Given the description of an element on the screen output the (x, y) to click on. 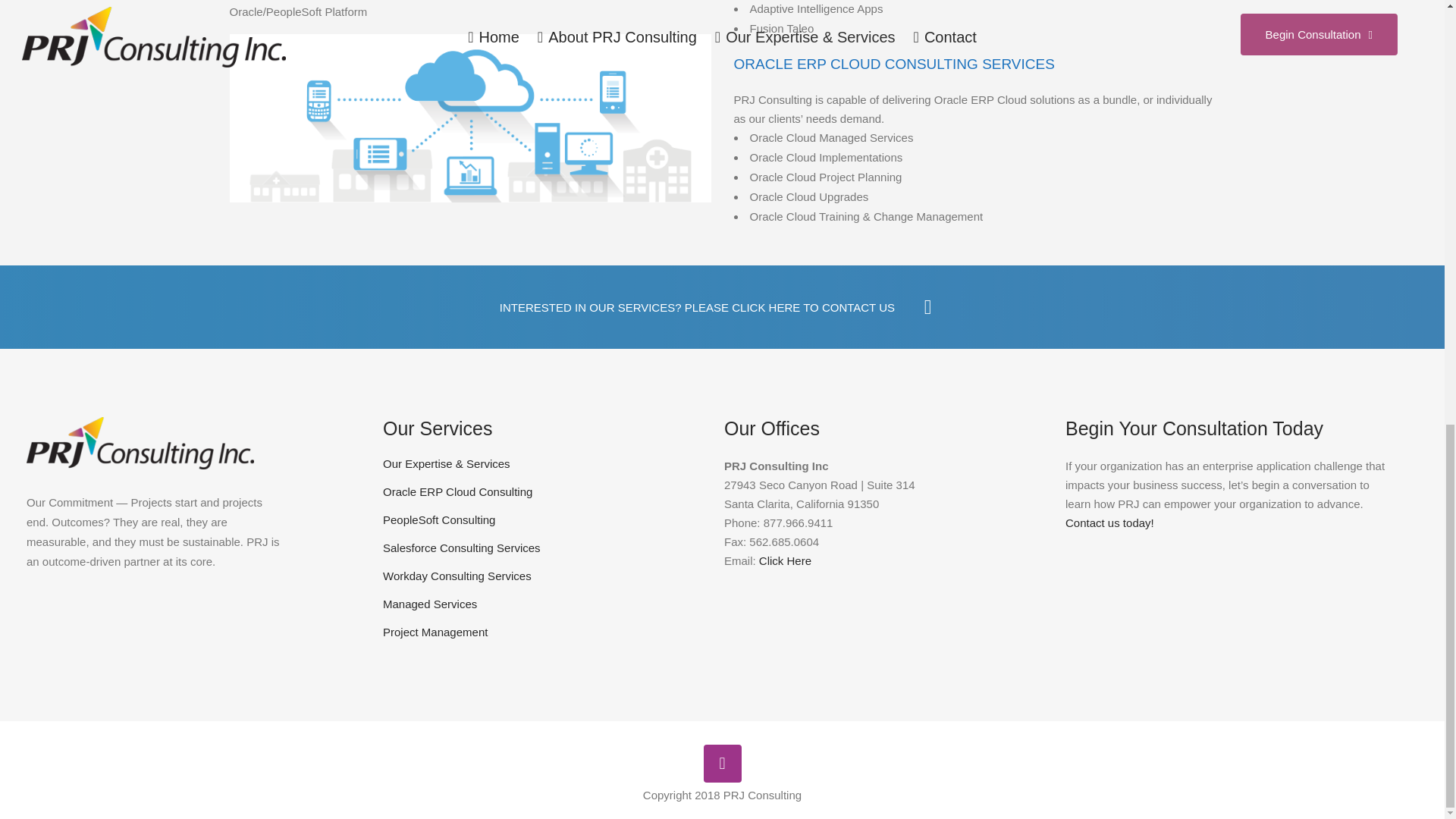
Salesforce Consulting Services (541, 548)
Managed Services (541, 604)
Workday Consulting Services (541, 575)
Project Management (541, 631)
Oracle ERP Cloud Consulting (541, 491)
Contact us today! (1109, 522)
Click Here (784, 560)
PeopleSoft Consulting (541, 519)
